Given the description of an element on the screen output the (x, y) to click on. 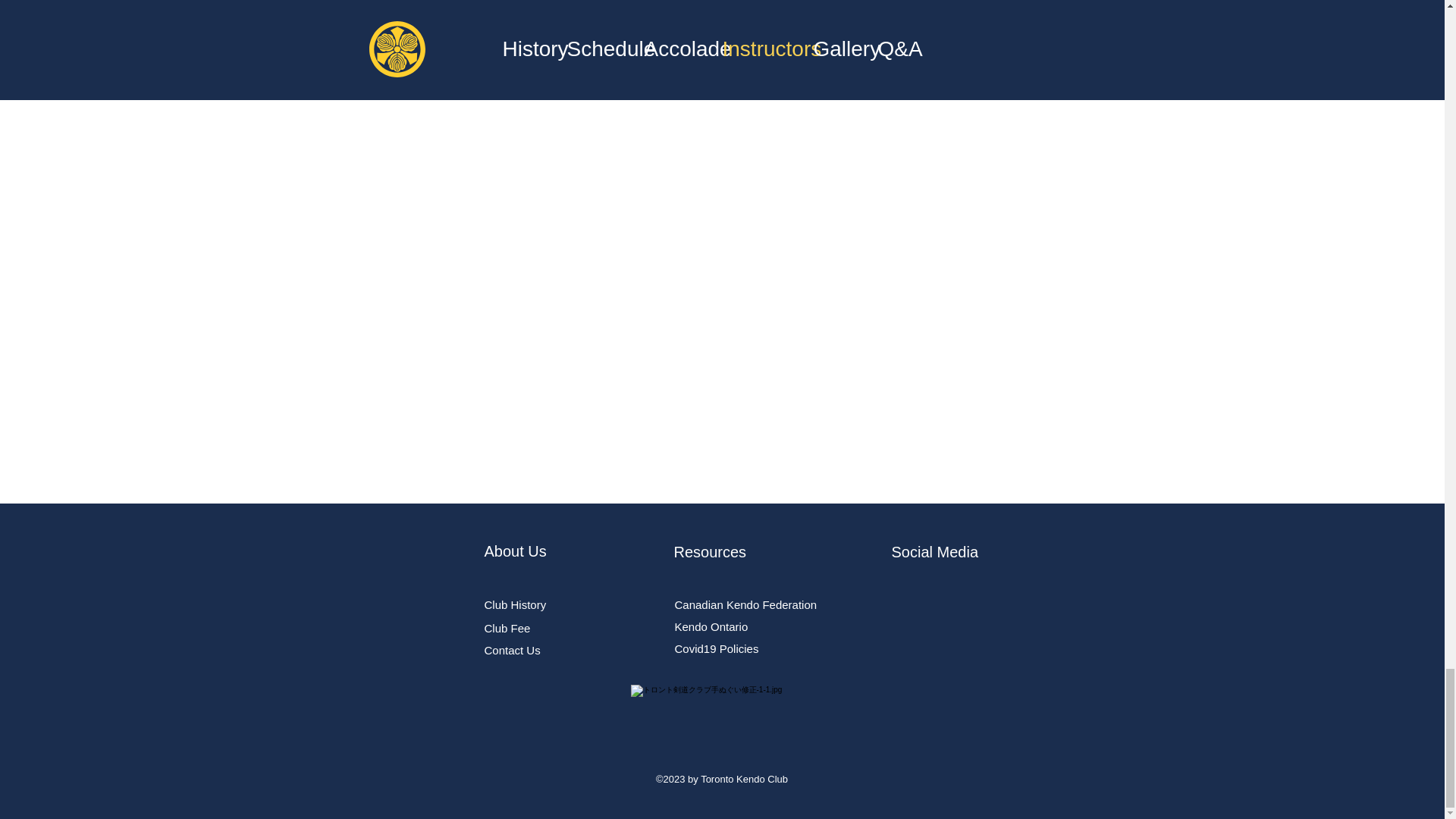
Covid19 Policies (716, 648)
Club History (514, 604)
Club Fee (506, 627)
Contact Us (511, 649)
Canadian Kendo Federation (745, 604)
Kendo Ontario (711, 626)
